Given the description of an element on the screen output the (x, y) to click on. 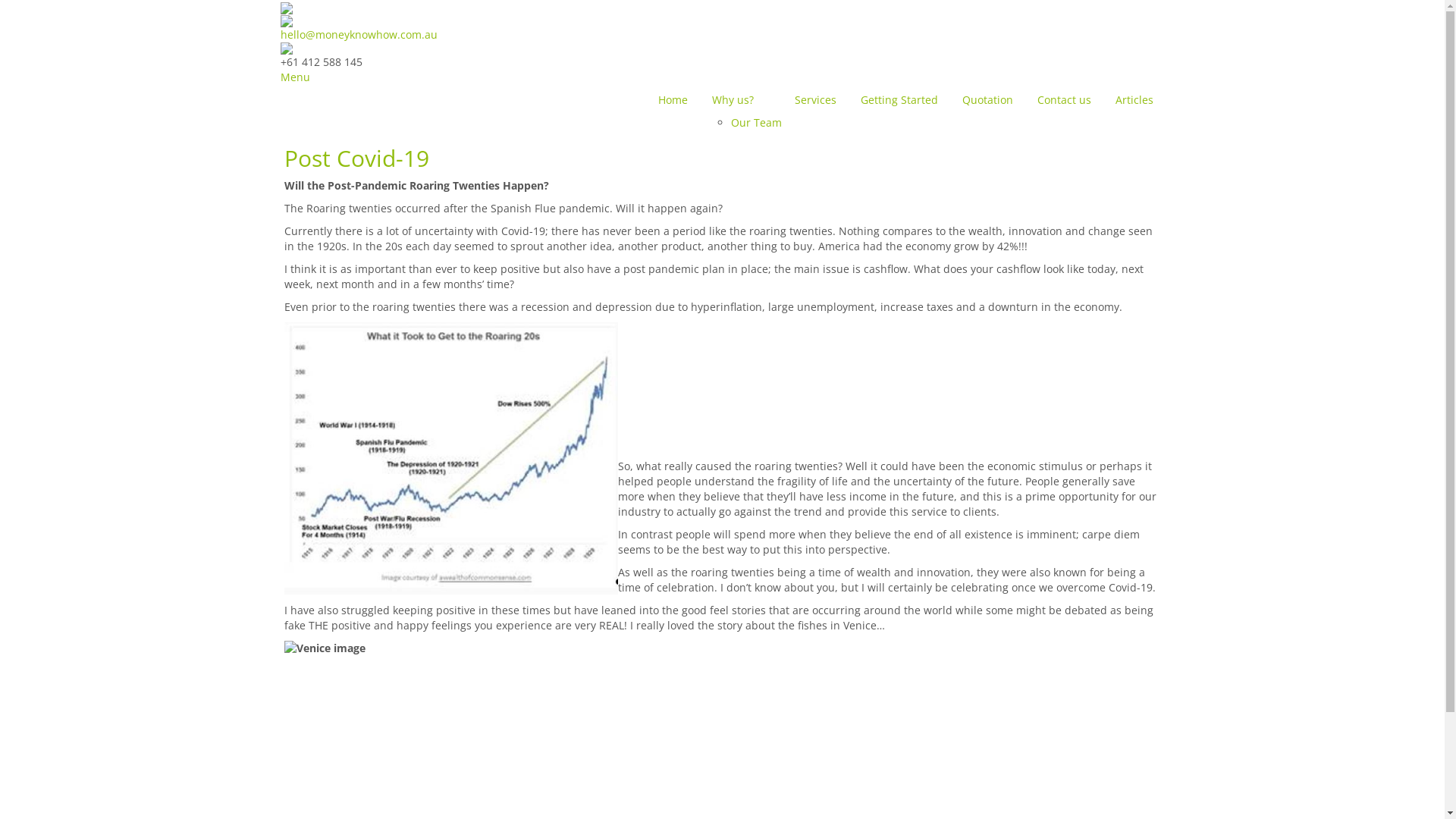
Why us? Element type: text (740, 99)
Menu Element type: text (295, 76)
hello@moneyknowhow.com.au Element type: text (358, 34)
Post Covid-19 Element type: text (355, 157)
Getting Started Element type: text (899, 99)
Articles Element type: text (1134, 99)
Our Team Element type: text (756, 122)
Services Element type: text (814, 99)
Home Element type: text (672, 99)
Quotation Element type: text (987, 99)
Contact us Element type: text (1063, 99)
